Given the description of an element on the screen output the (x, y) to click on. 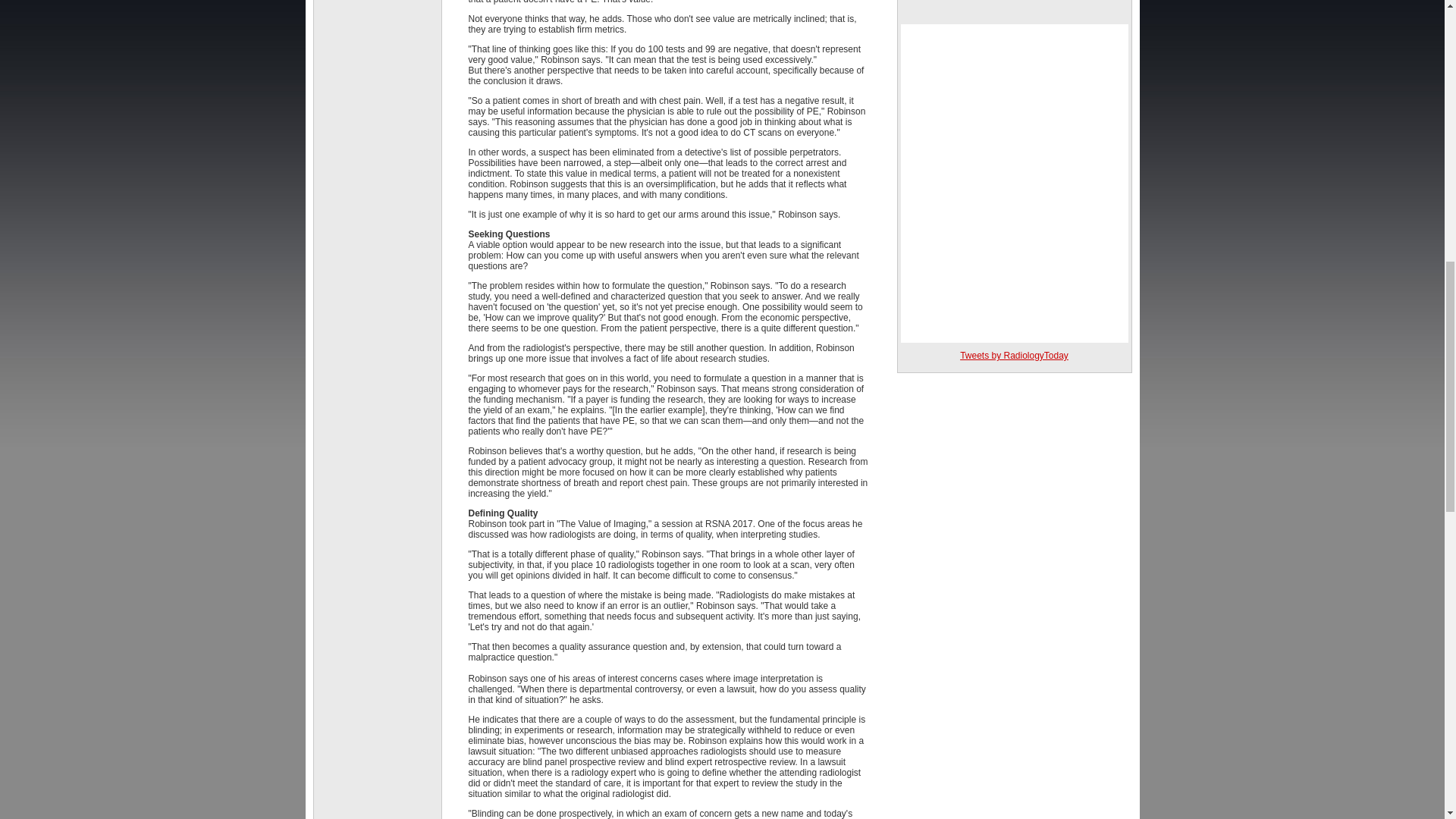
3rd party ad content (1014, 8)
Tweets by RadiologyToday (1013, 355)
